Given the description of an element on the screen output the (x, y) to click on. 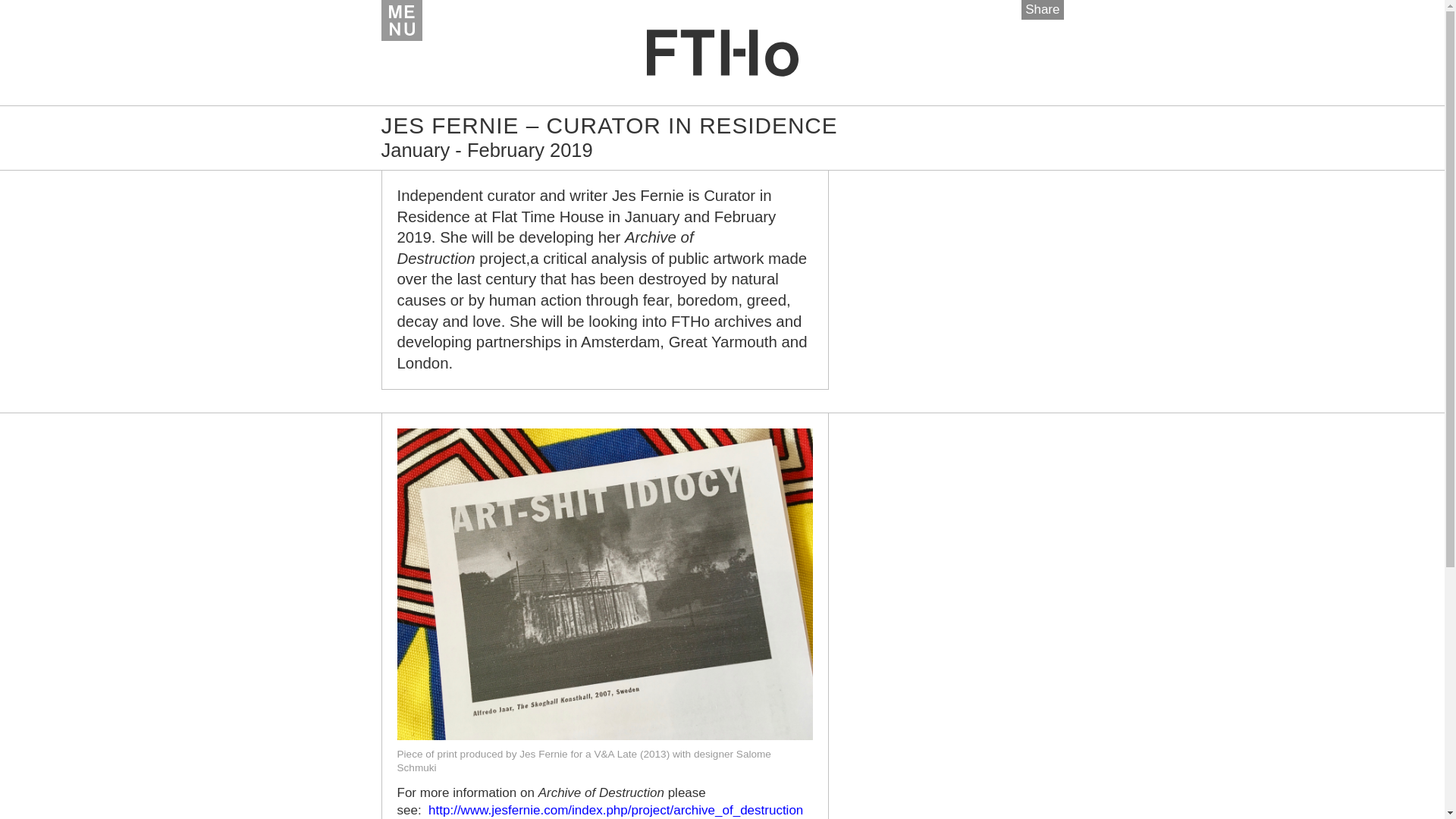
Share (1042, 9)
FTHo (721, 52)
Toggle menu (401, 20)
